Given the description of an element on the screen output the (x, y) to click on. 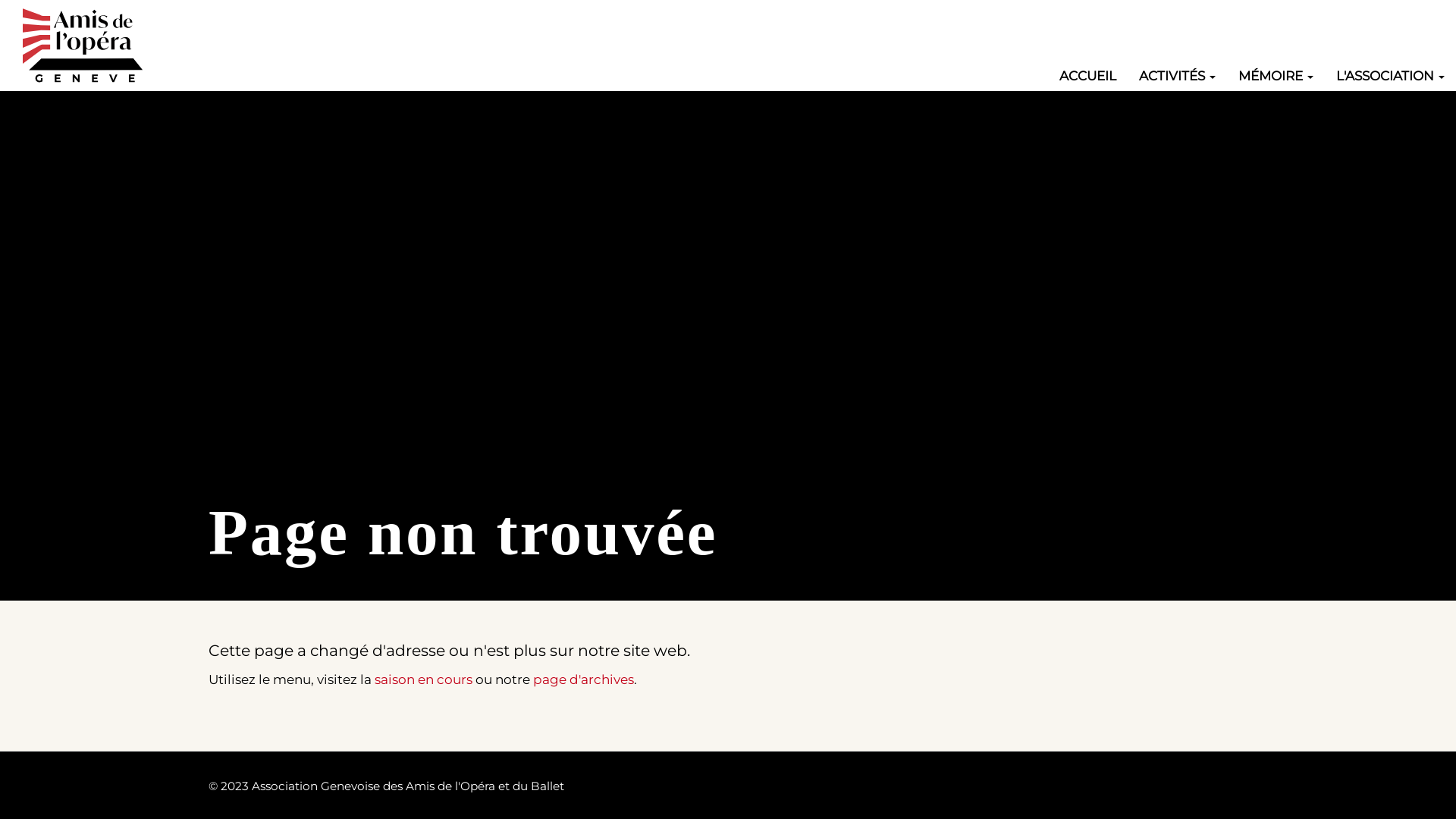
Accueil Element type: hover (90, 45)
page d'archives Element type: text (583, 679)
L'ASSOCIATION Element type: text (1390, 75)
saison en cours Element type: text (423, 679)
ACCUEIL Element type: text (1087, 75)
Aller au contenu principal Element type: text (0, 0)
